Given the description of an element on the screen output the (x, y) to click on. 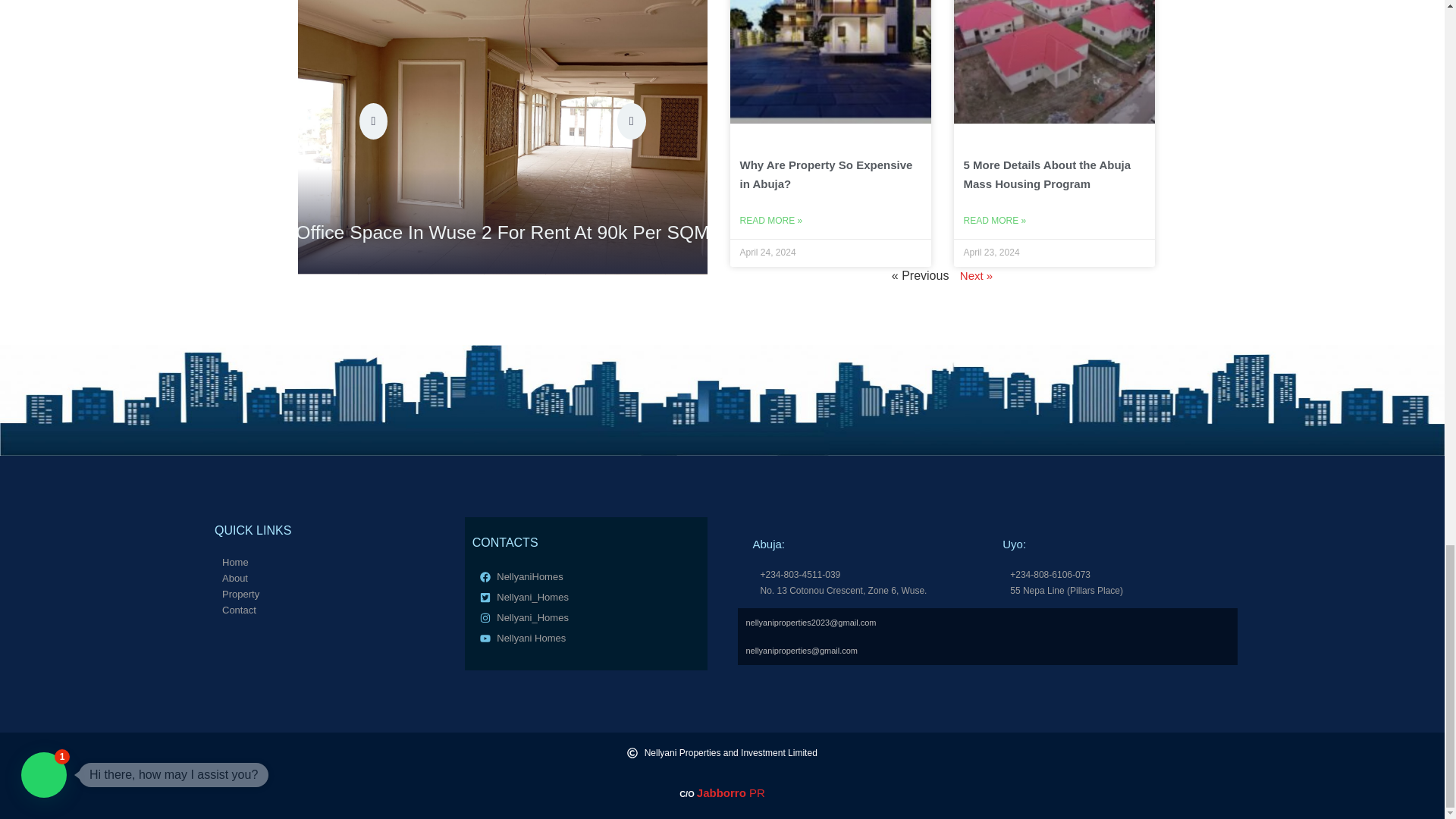
Office Space In Wuse 2 For Rent At 90k Per SQM (454, 229)
Why Are Property So Expensive in Abuja? (825, 174)
5 More Details About the Abuja Mass Housing Program (1046, 174)
Office Space in Wuse 2 for Rent at 90k per SQM (454, 229)
